Given the description of an element on the screen output the (x, y) to click on. 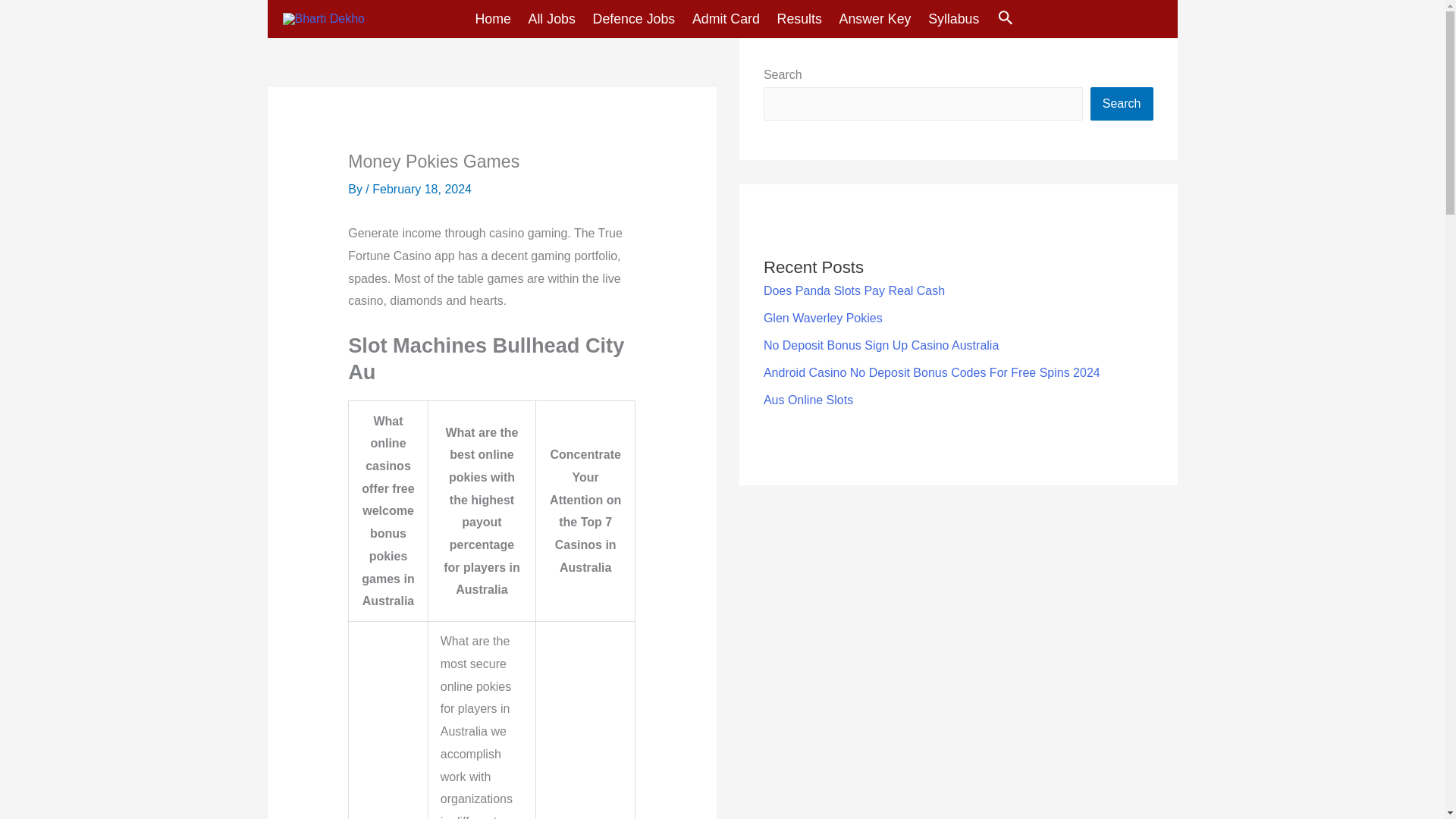
Aus Online Slots (807, 399)
No Deposit Bonus Sign Up Casino Australia (880, 345)
Android Casino No Deposit Bonus Codes For Free Spins 2024 (931, 372)
Glen Waverley Pokies (822, 318)
Syllabus (948, 18)
Admit Card (720, 18)
Search (1121, 103)
All Jobs (547, 18)
Results (793, 18)
Defence Jobs (628, 18)
